Given the description of an element on the screen output the (x, y) to click on. 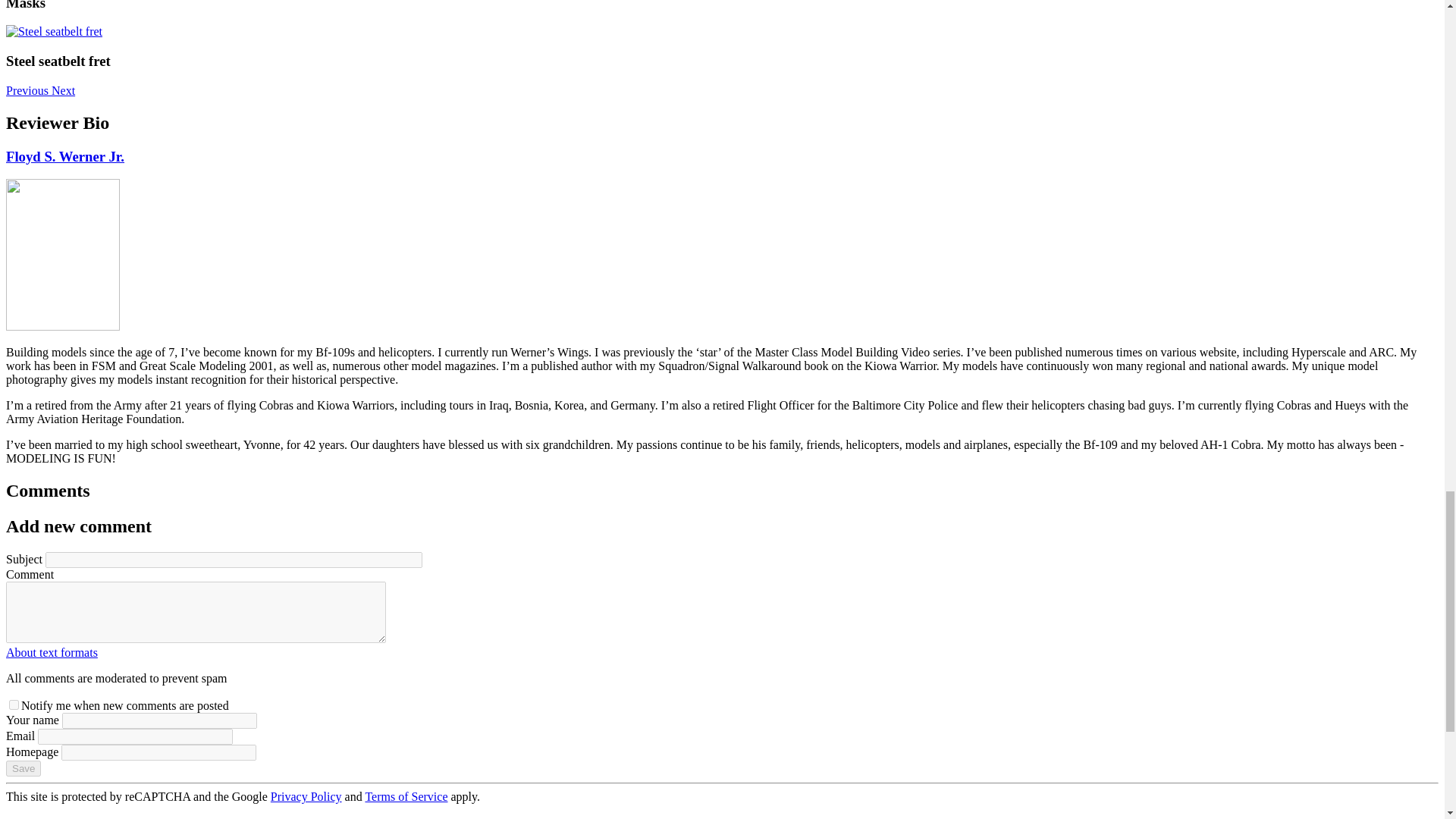
Next (62, 90)
1 (13, 705)
Previous (27, 90)
